Given the description of an element on the screen output the (x, y) to click on. 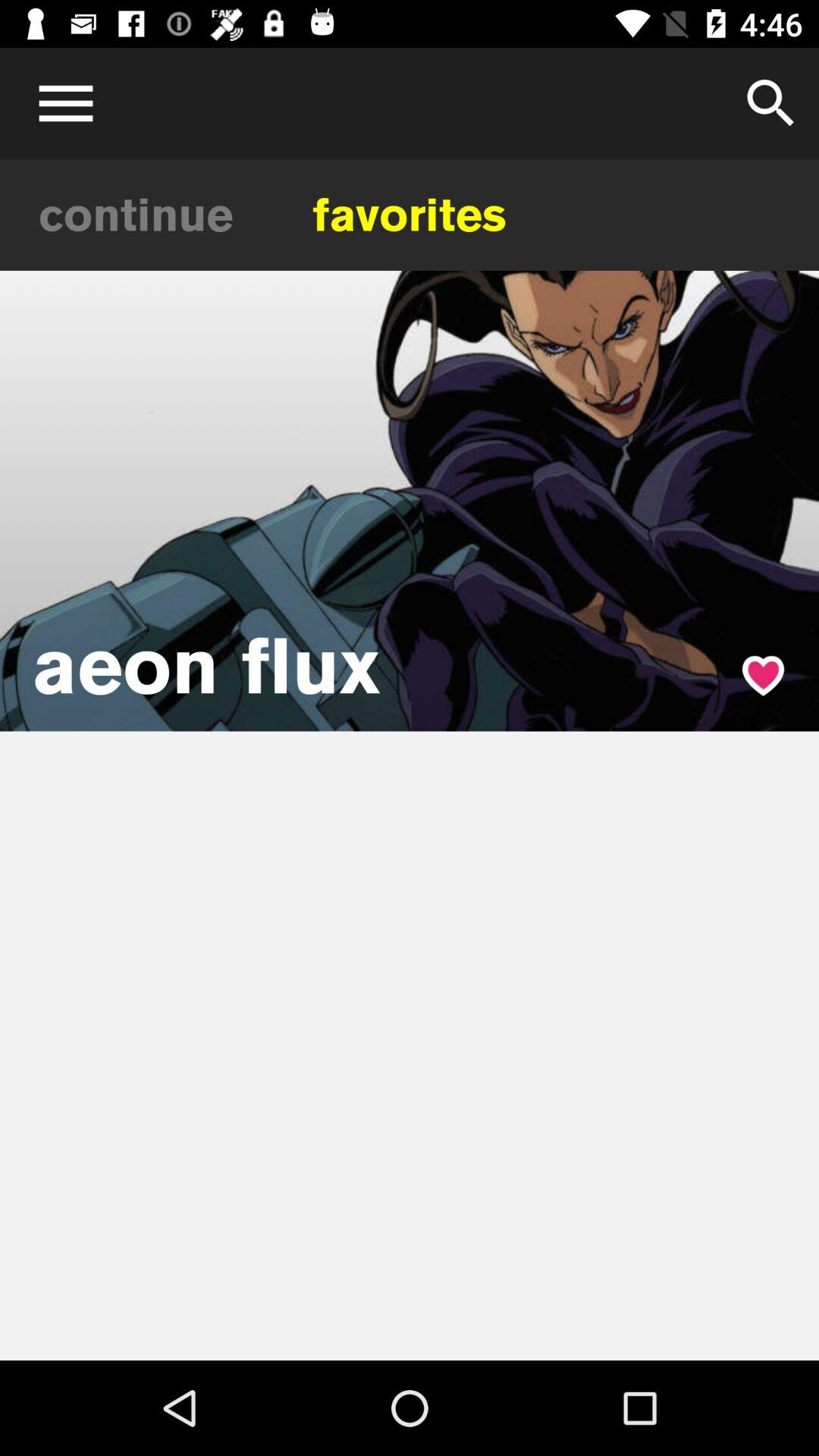
menu icon (60, 103)
